Given the description of an element on the screen output the (x, y) to click on. 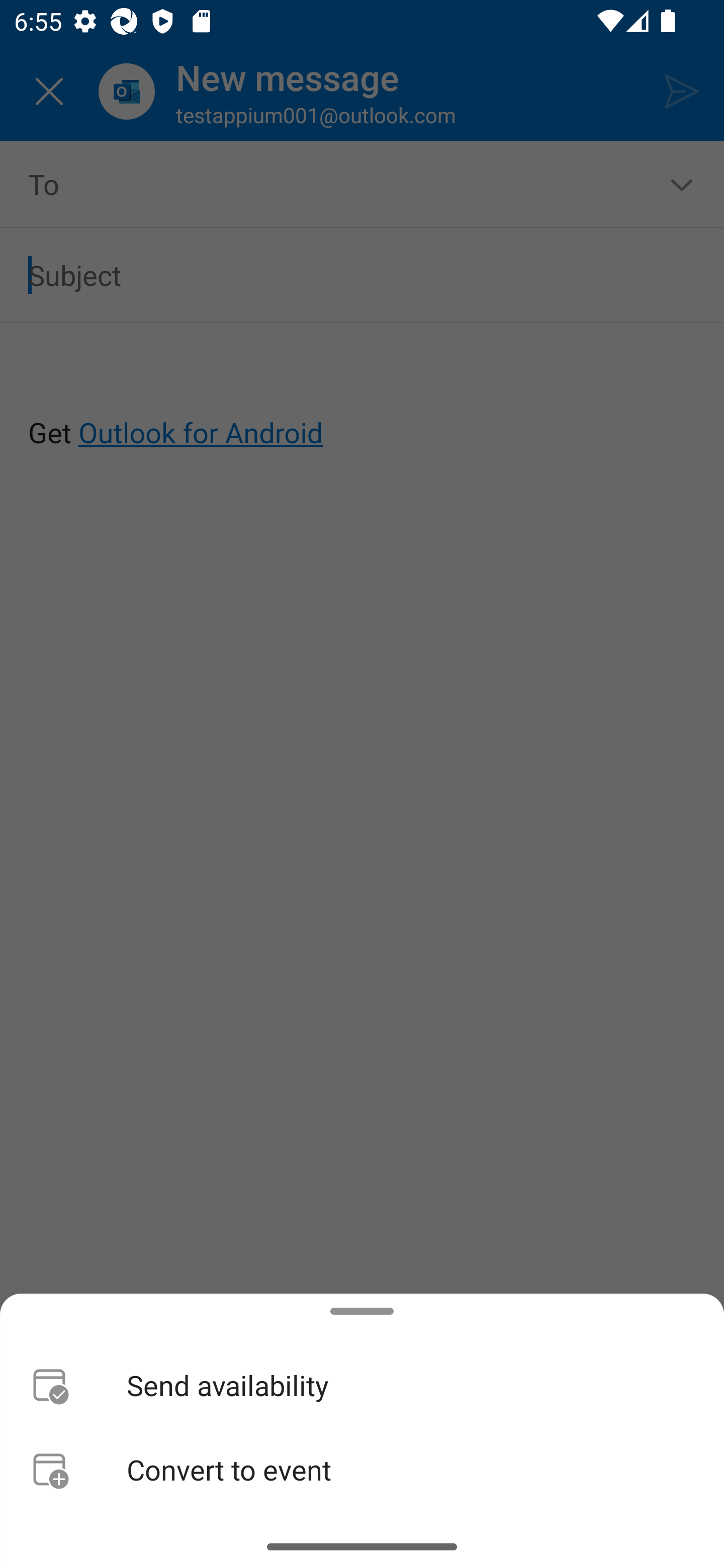
Send availability (362, 1384)
Convert to event (362, 1468)
